Given the description of an element on the screen output the (x, y) to click on. 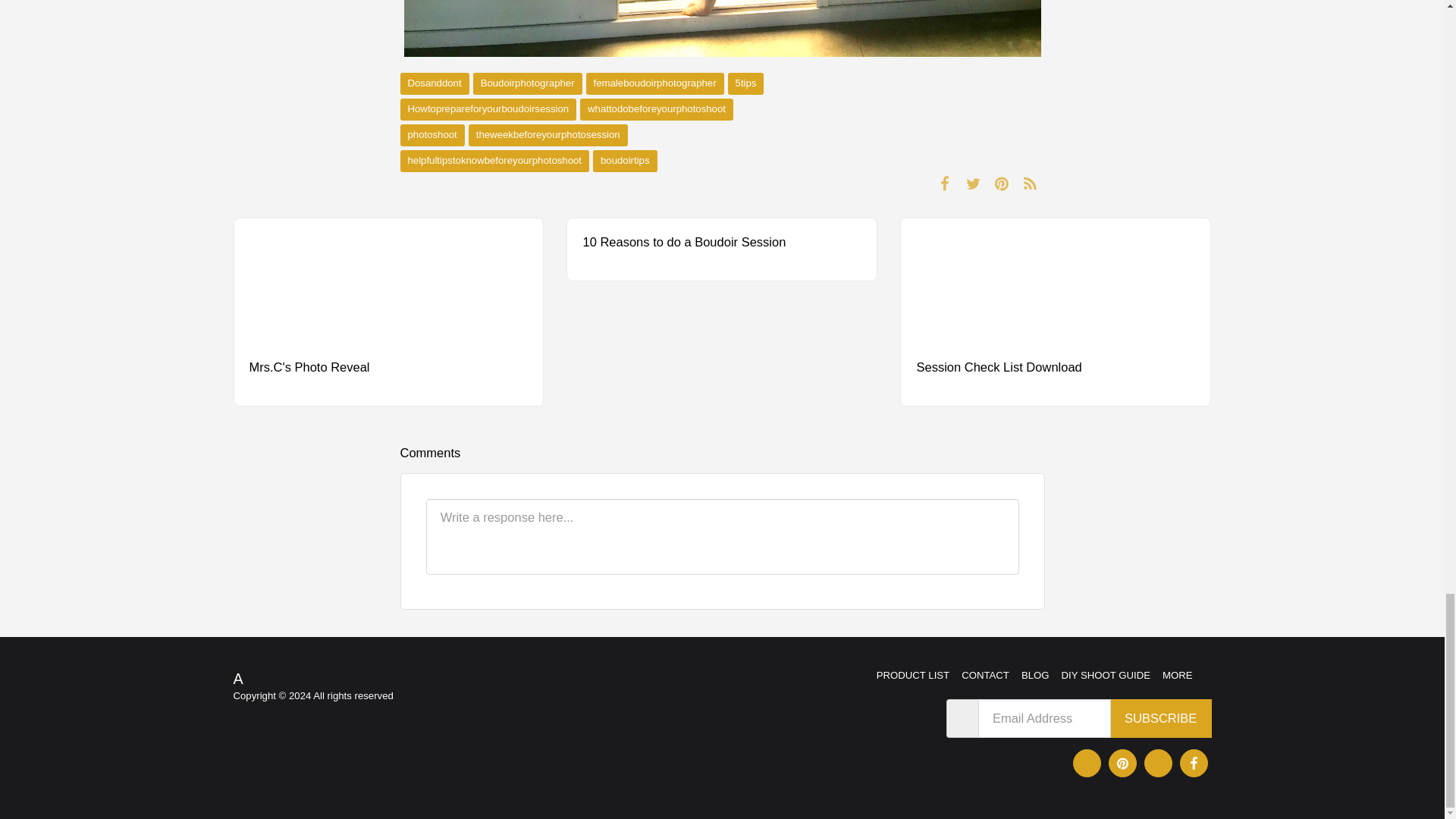
femaleboudoirphotographer (654, 83)
Dosanddont (434, 83)
Pin it (1002, 183)
Boudoirphotographer (527, 83)
Share on Facebook (945, 183)
5tips (746, 83)
RSS (1029, 183)
Howtoprepareforyourboudoirsession (488, 109)
Tweet (973, 183)
